Given the description of an element on the screen output the (x, y) to click on. 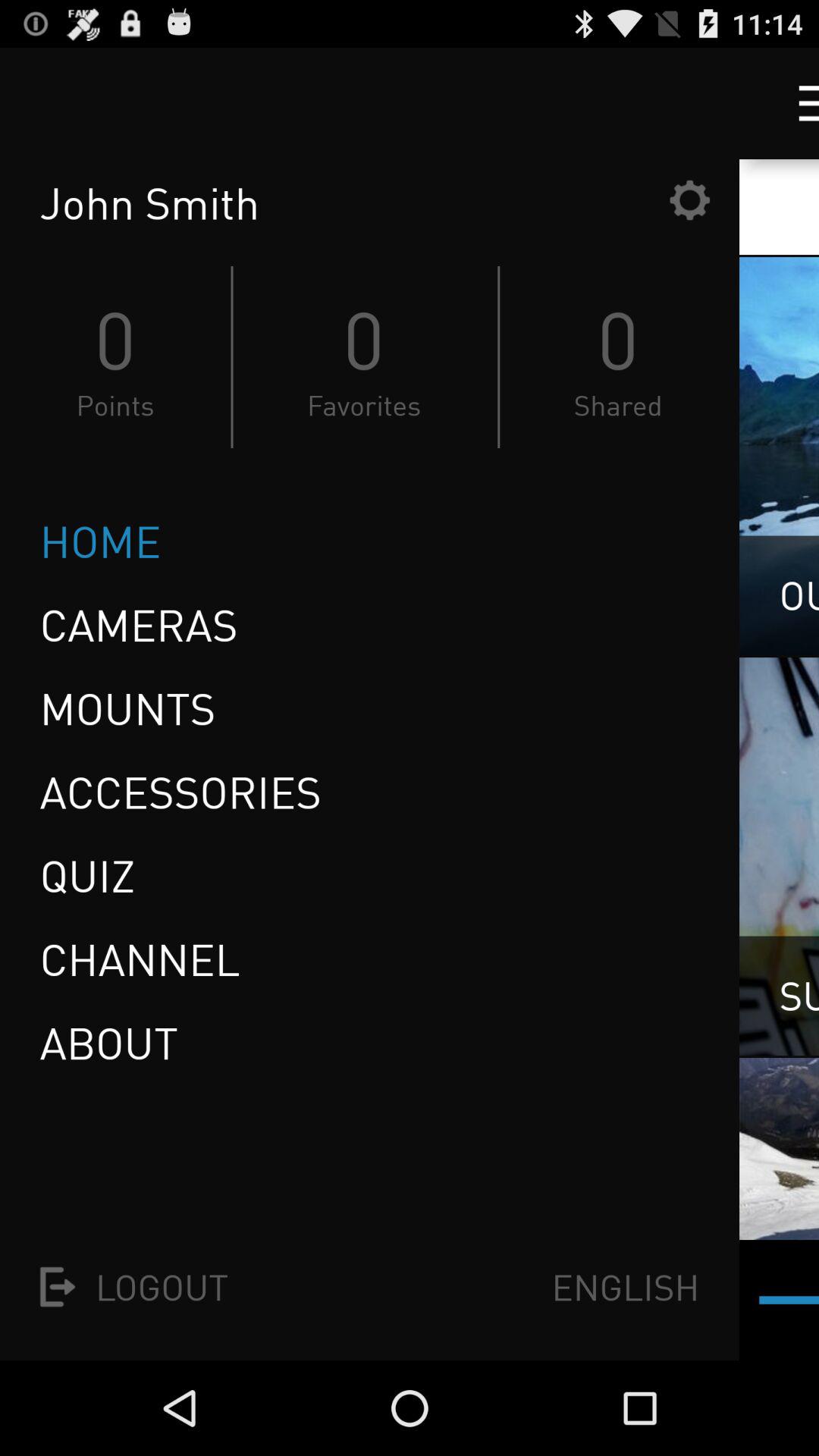
more options button (795, 102)
